Given the description of an element on the screen output the (x, y) to click on. 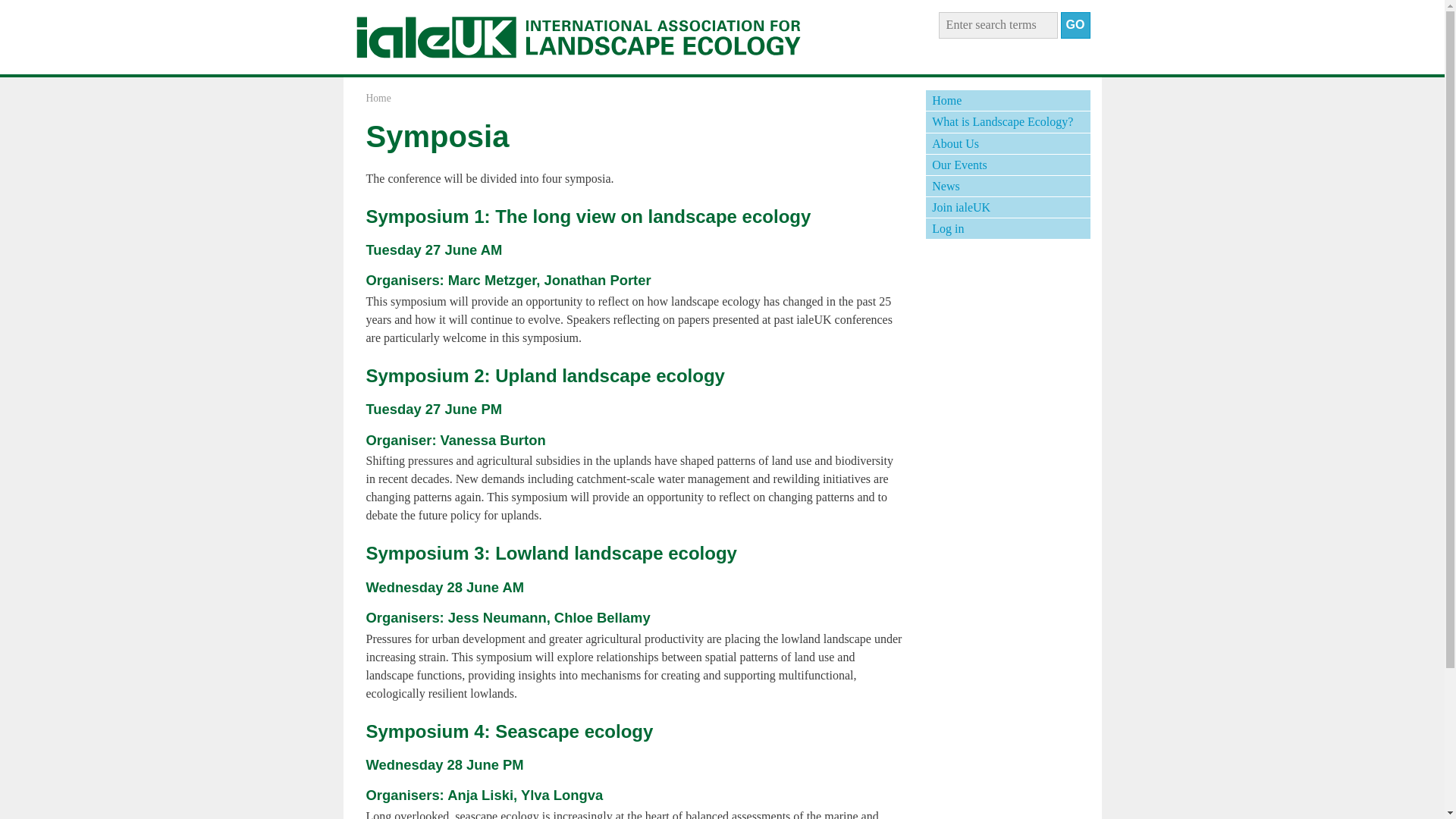
Our Events (1007, 164)
Home (1007, 100)
What is Landscape Ecology? (1007, 121)
News (1007, 186)
Join ialeUK (1007, 207)
Go (1075, 25)
Enter the terms you wish to search for. (998, 25)
ialeUK - International Association for Landscape Ecology (577, 37)
Log in (1007, 228)
About Us (1007, 143)
Home (377, 98)
Go (1075, 25)
